Given the description of an element on the screen output the (x, y) to click on. 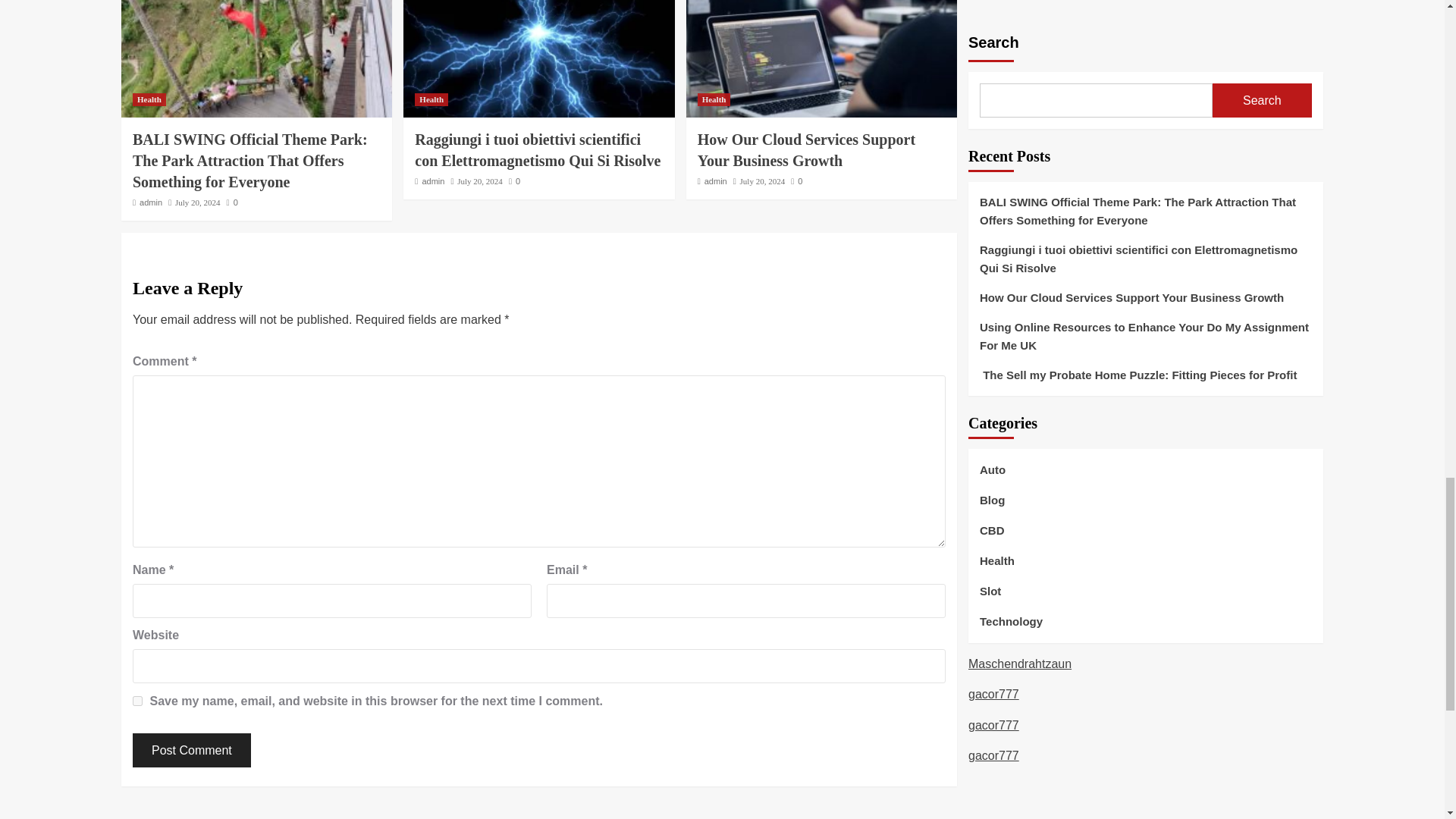
July 20, 2024 (197, 202)
admin (433, 180)
How Our Cloud Services Support Your Business Growth (806, 149)
0 (796, 180)
yes (137, 700)
admin (150, 202)
Health (148, 99)
Health (431, 99)
Post Comment (191, 750)
0 (513, 180)
July 20, 2024 (479, 180)
July 20, 2024 (762, 180)
admin (715, 180)
